Given the description of an element on the screen output the (x, y) to click on. 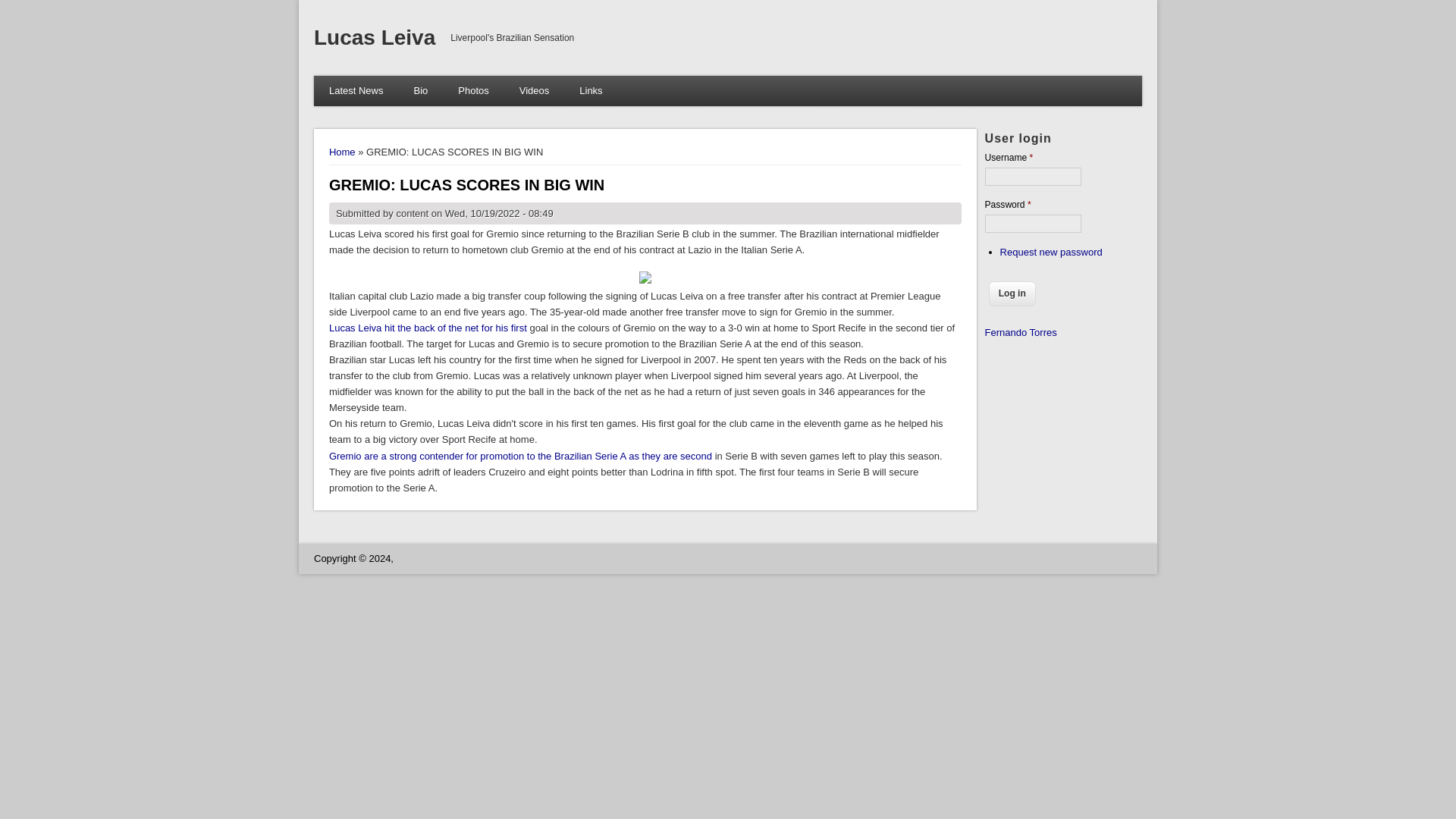
Fernando Torres (1021, 332)
Links (590, 91)
Log in (1011, 293)
Log in (1011, 293)
Videos (533, 91)
Home (342, 152)
Latest News (356, 91)
Request new password via e-mail. (1051, 251)
Photos (472, 91)
Bio (419, 91)
Home (374, 37)
Request new password (1051, 251)
Lucas Leiva (374, 37)
Lucas Leiva hit the back of the net for his first (428, 327)
